Given the description of an element on the screen output the (x, y) to click on. 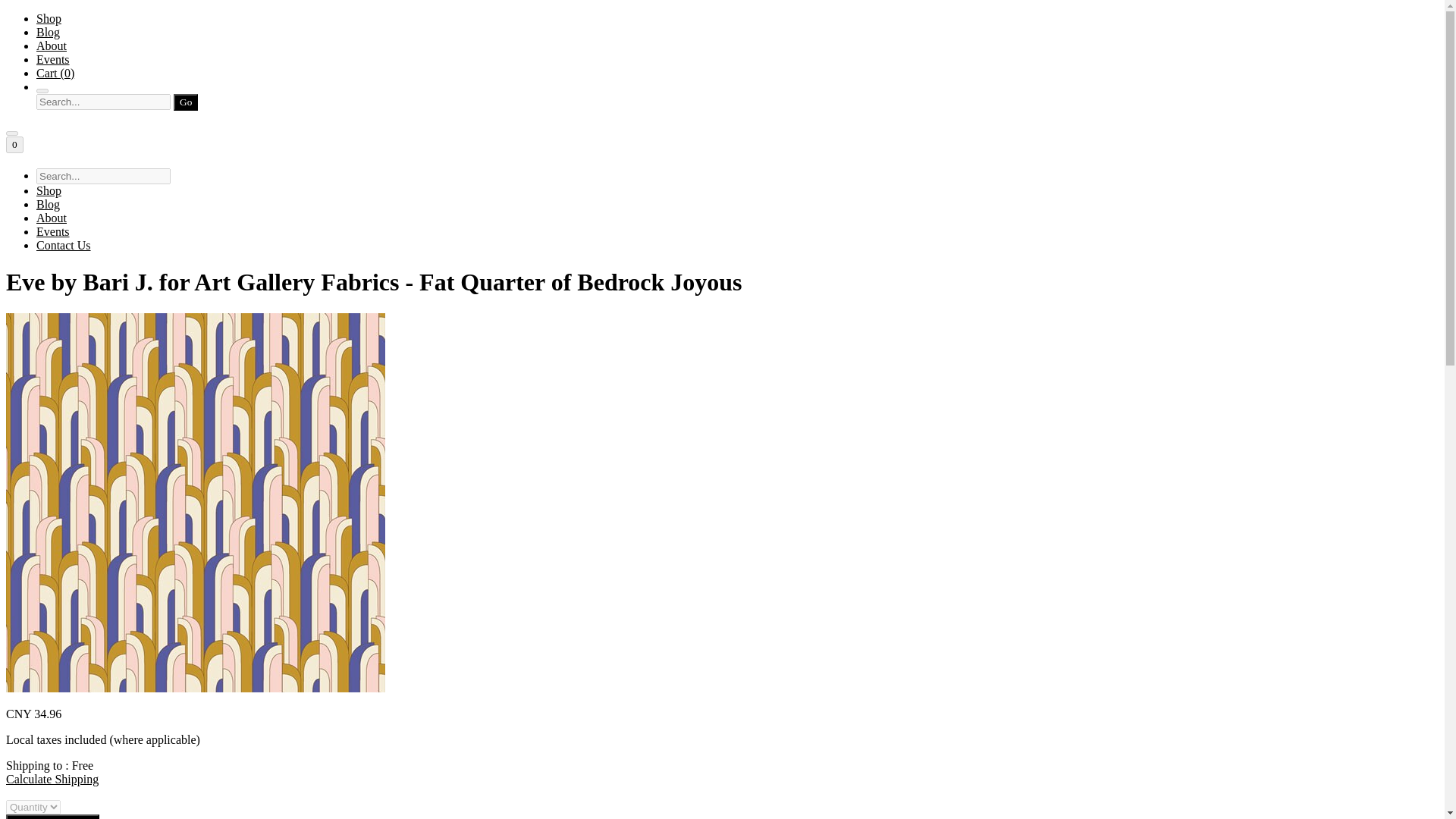
Go (185, 102)
0 (14, 144)
Shop (48, 18)
Events (52, 231)
About (51, 217)
About (51, 45)
Shop (48, 190)
Go (185, 102)
Loading Add to cart (52, 816)
Blog (47, 31)
